Given the description of an element on the screen output the (x, y) to click on. 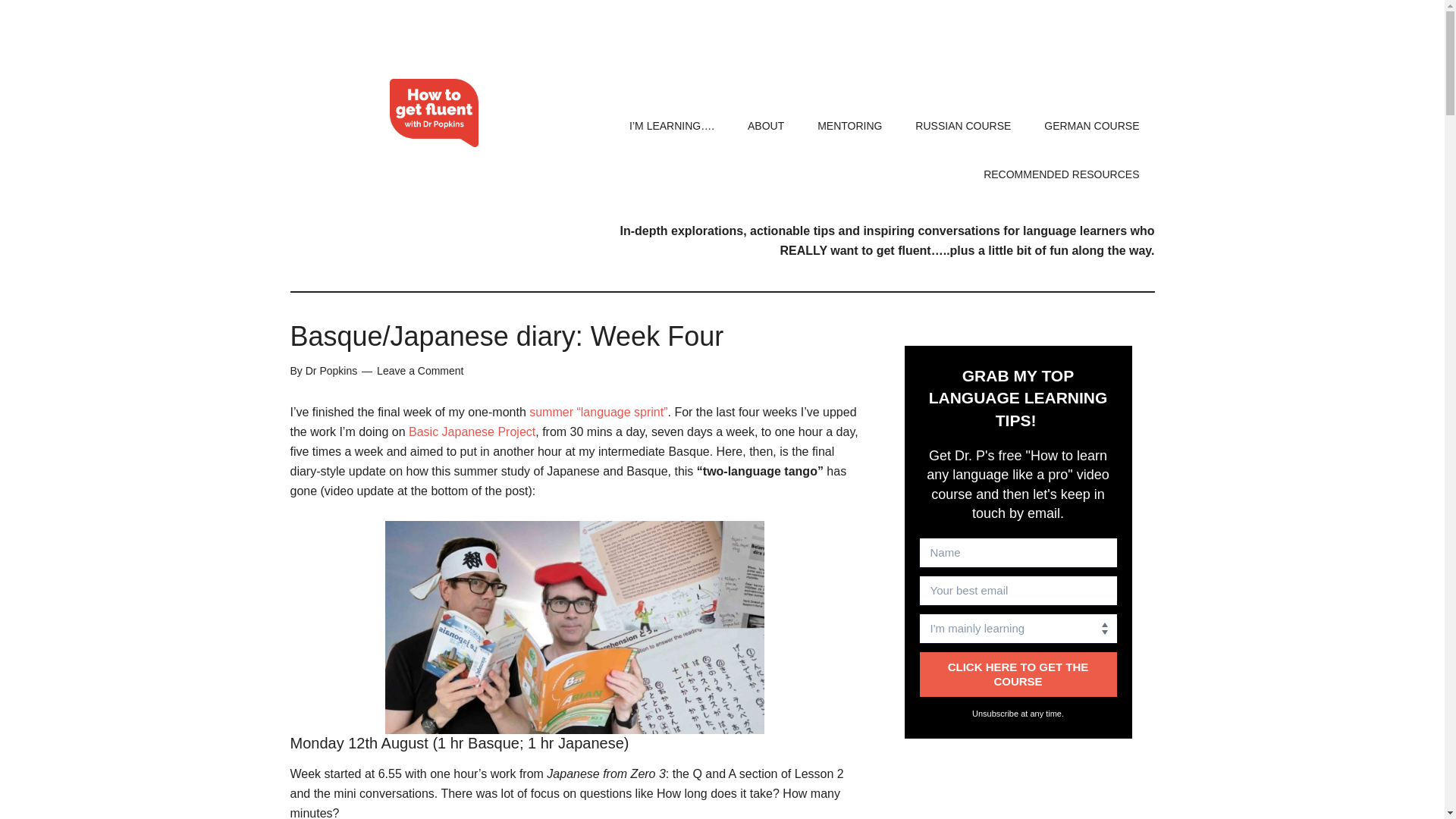
How to get fluent, with Dr Popkins (433, 112)
RUSSIAN COURSE (962, 125)
GERMAN COURSE (1091, 125)
Basic Japanese Project (472, 431)
RECOMMENDED RESOURCES (1061, 174)
Leave a Comment (420, 370)
Dr Popkins (330, 370)
ABOUT (765, 125)
MENTORING (849, 125)
CLICK HERE TO GET THE COURSE (1017, 673)
